Given the description of an element on the screen output the (x, y) to click on. 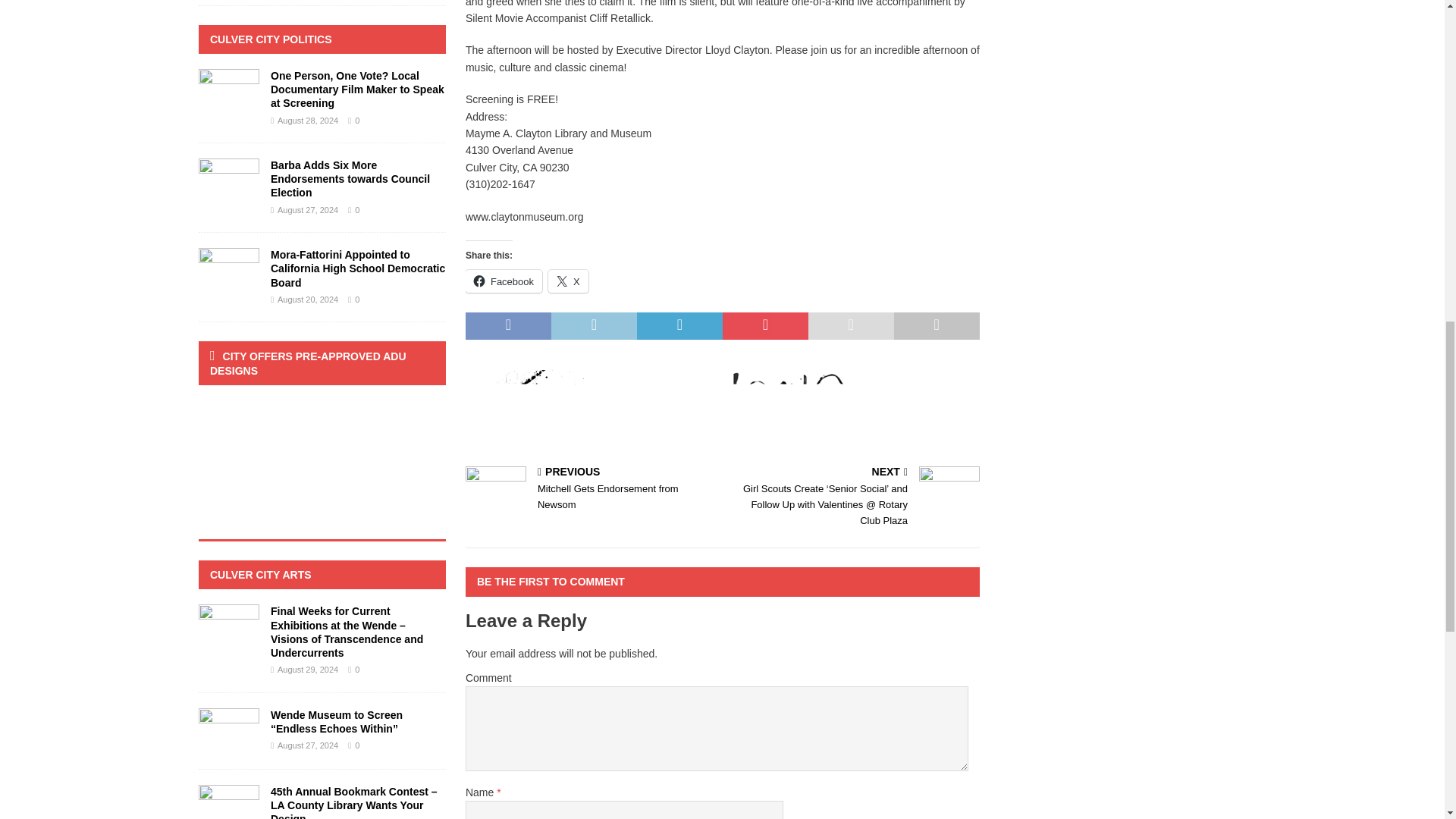
Facebook (590, 489)
X (503, 281)
